Given the description of an element on the screen output the (x, y) to click on. 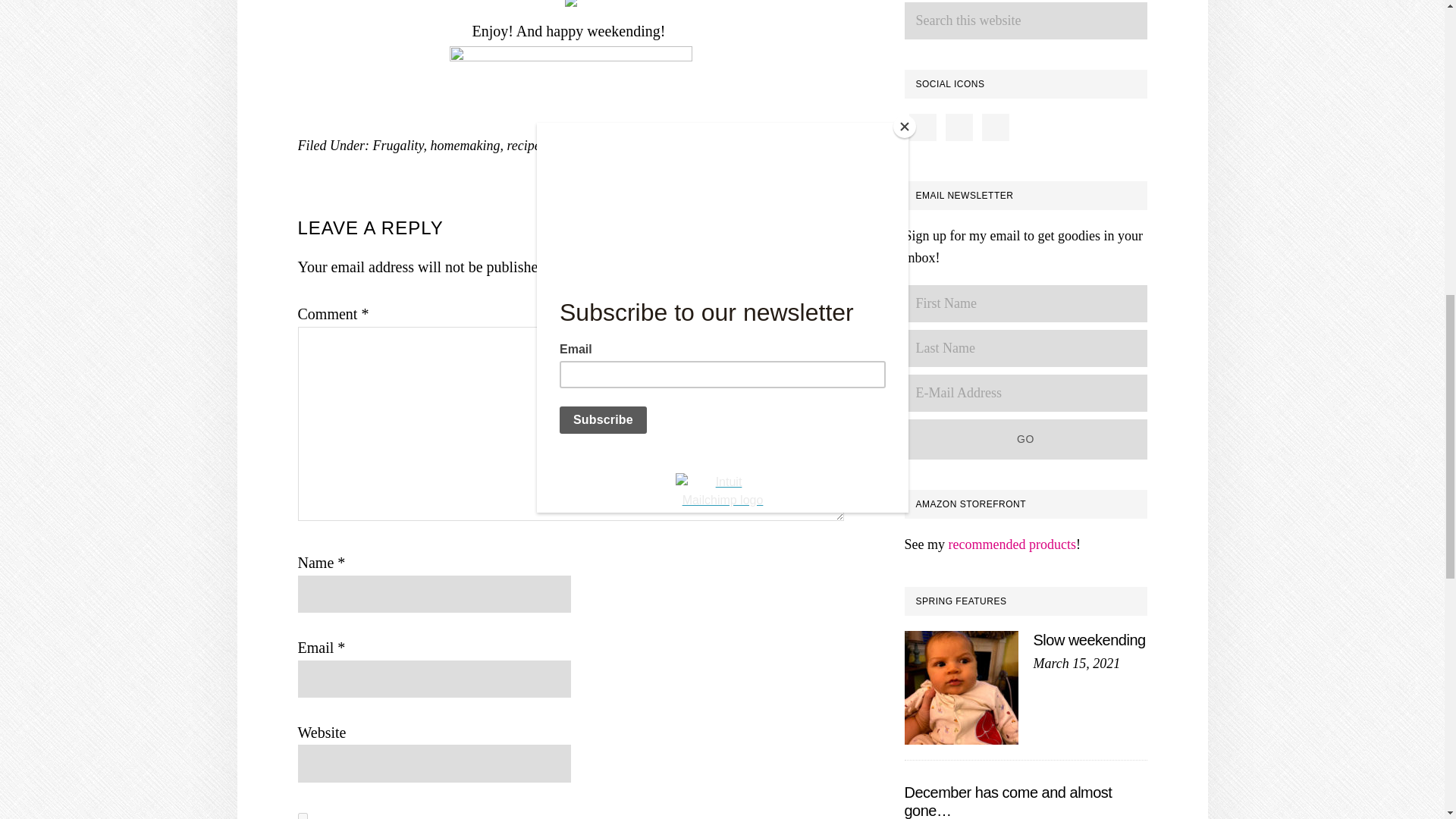
Go (1025, 439)
yes (302, 816)
homemaking (464, 145)
recommended products (1011, 544)
Go (1025, 439)
Frugality (397, 145)
recipes (525, 145)
